Given the description of an element on the screen output the (x, y) to click on. 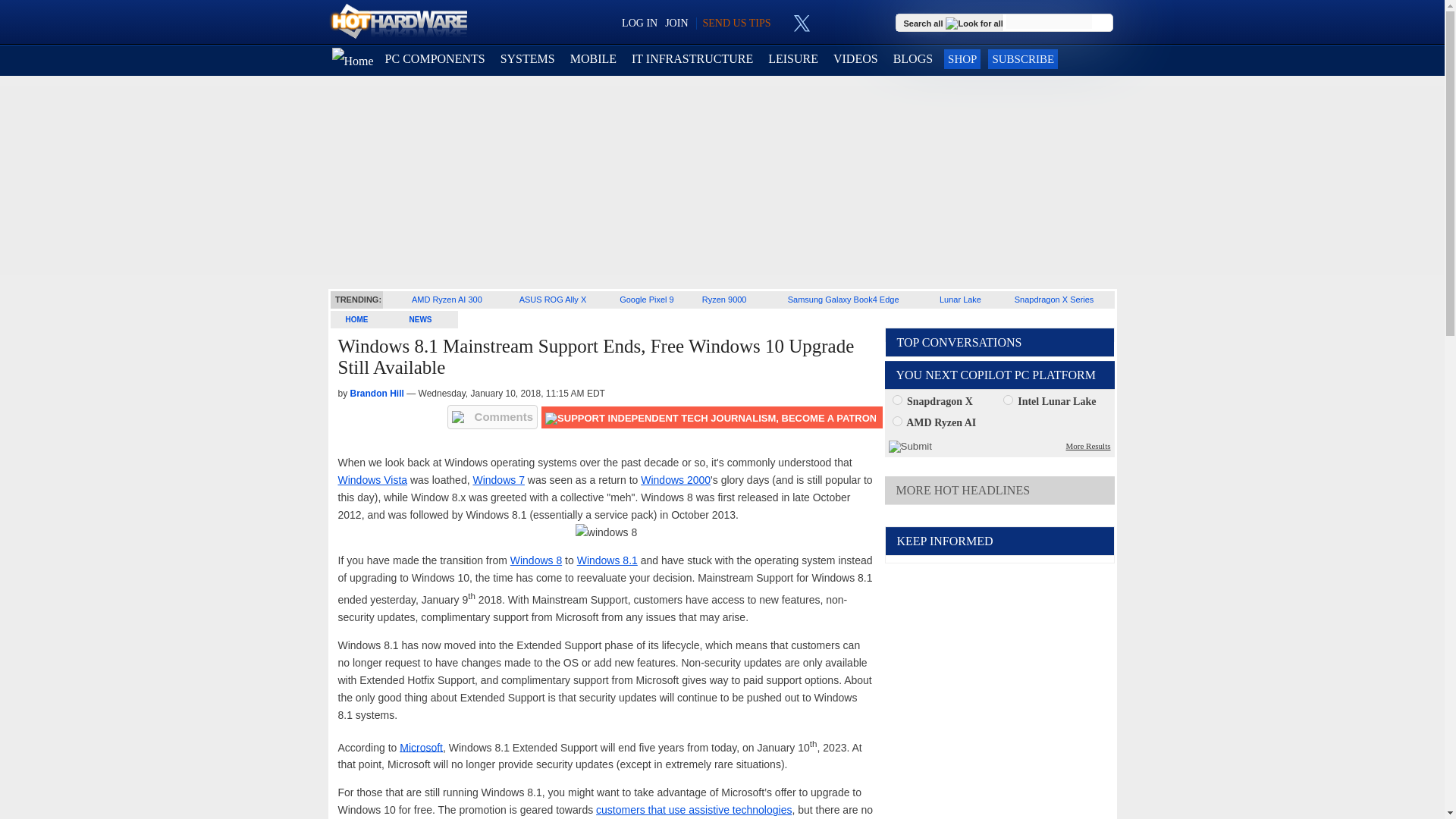
Go (1103, 22)
SEND US TIPS (735, 22)
758 (1008, 399)
Blogs (912, 58)
LOG IN (639, 22)
759 (896, 420)
Go (1103, 22)
SIGN OUT (39, 18)
JOIN (676, 22)
keyword (1049, 21)
